Given the description of an element on the screen output the (x, y) to click on. 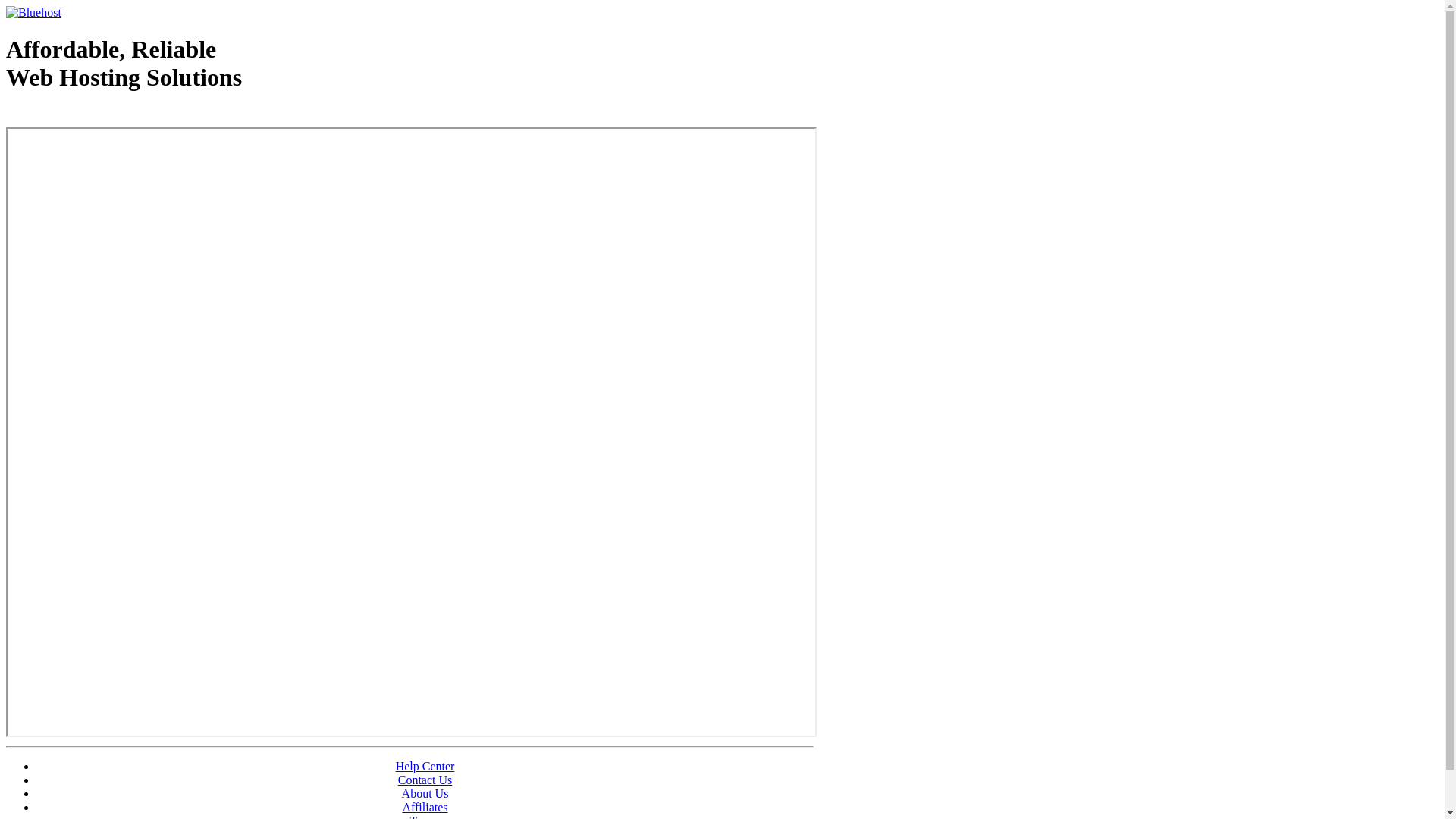
About Us Element type: text (424, 793)
Help Center Element type: text (425, 765)
Affiliates Element type: text (424, 806)
Contact Us Element type: text (425, 779)
Web Hosting - courtesy of www.bluehost.com Element type: text (94, 115)
